Given the description of an element on the screen output the (x, y) to click on. 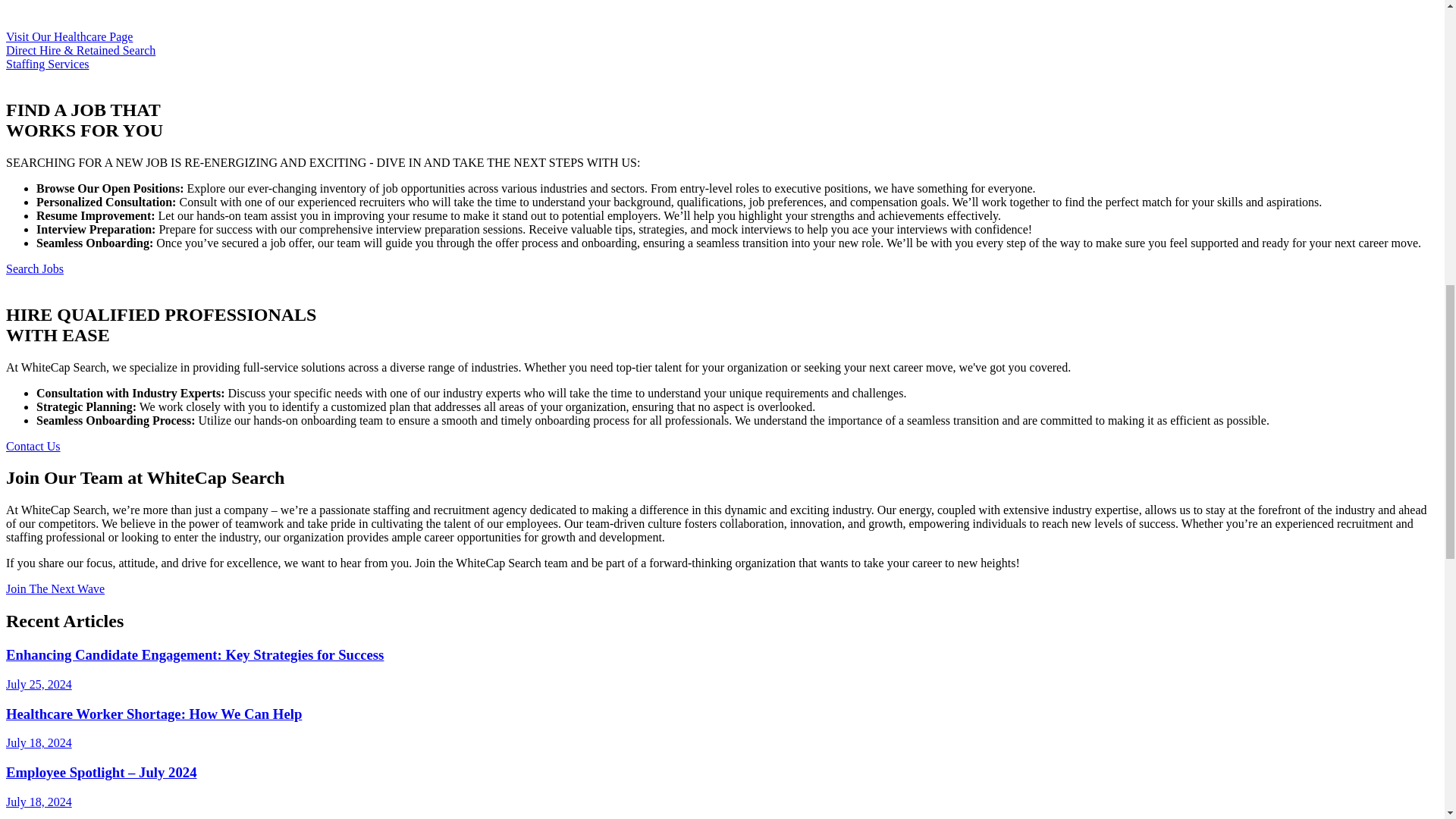
Contact Us (33, 445)
Join The Next Wave (54, 588)
Staffing Services (46, 63)
Visit Our Healthcare Page (68, 36)
Search Jobs (34, 268)
